Given the description of an element on the screen output the (x, y) to click on. 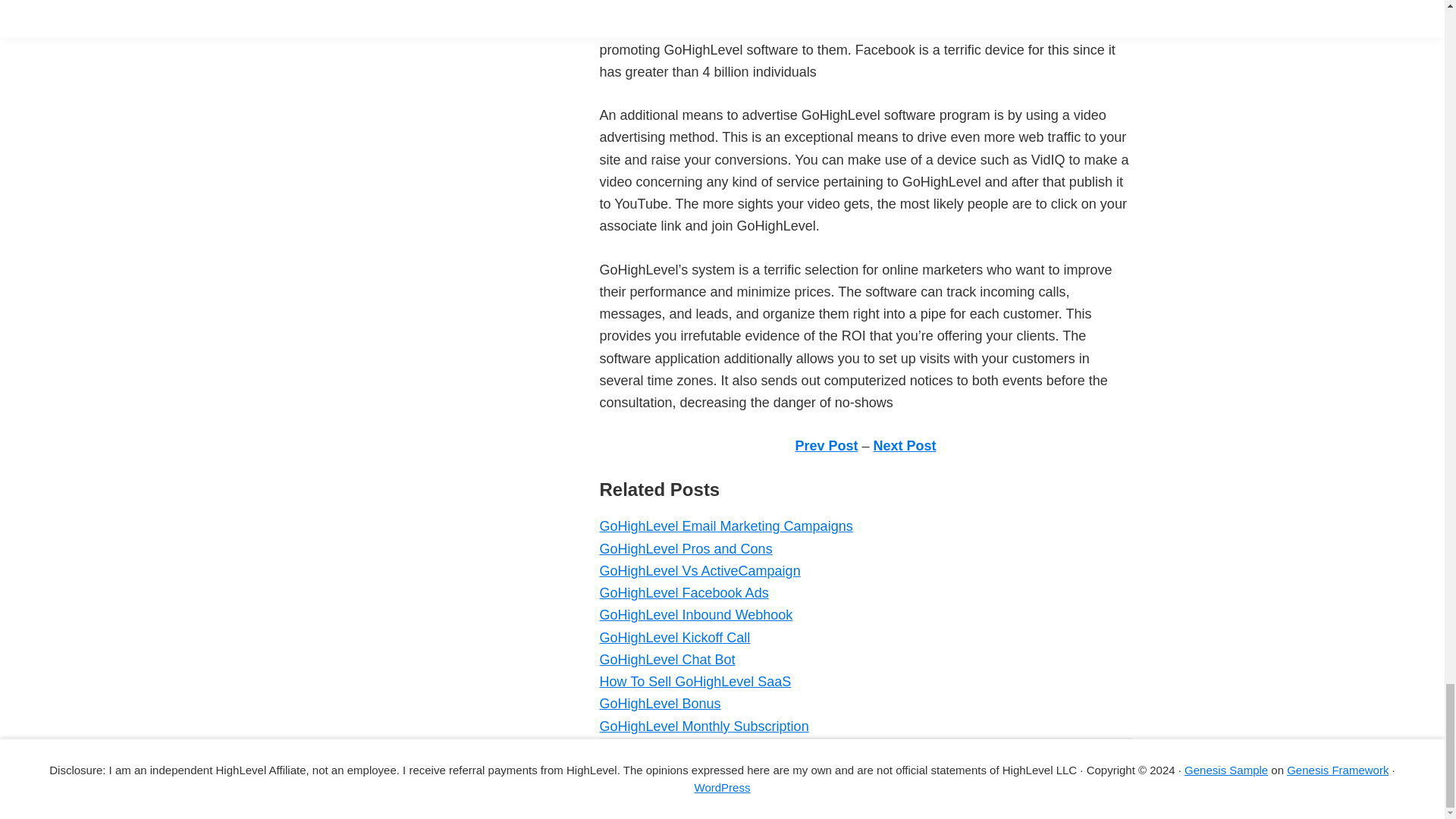
GoHighLevel Pros and Cons (684, 548)
GoHighLevel Facebook Ads (683, 592)
GoHighLevel Bonus (659, 703)
GoHighLevel Inbound Webhook (695, 614)
GoHighLevel Chat Bot (666, 659)
GoHighLevel Inbound Webhook (695, 614)
GoHighLevel Vs ActiveCampaign (698, 570)
GoHighLevel Chat Bot (666, 659)
GoHighLevel Pros and Cons (684, 548)
How To Sell GoHighLevel SaaS (694, 681)
